Given the description of an element on the screen output the (x, y) to click on. 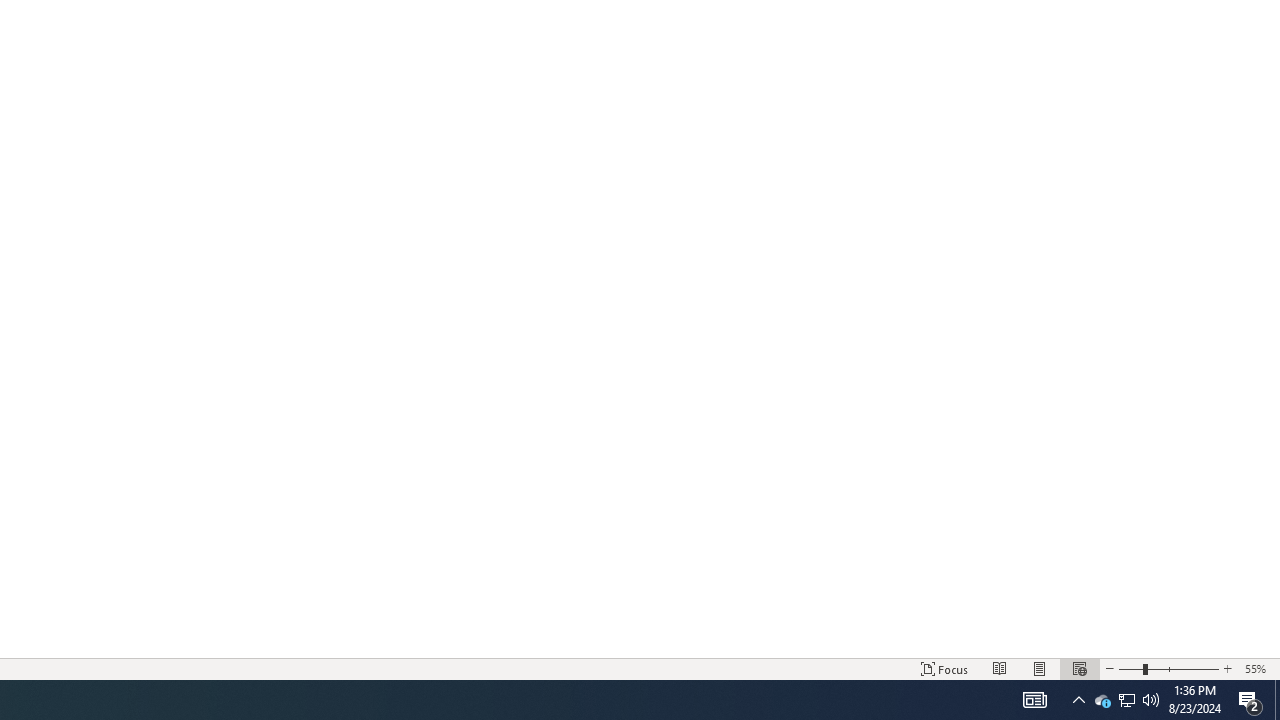
Zoom (1168, 668)
Zoom 55% (1258, 668)
